Given the description of an element on the screen output the (x, y) to click on. 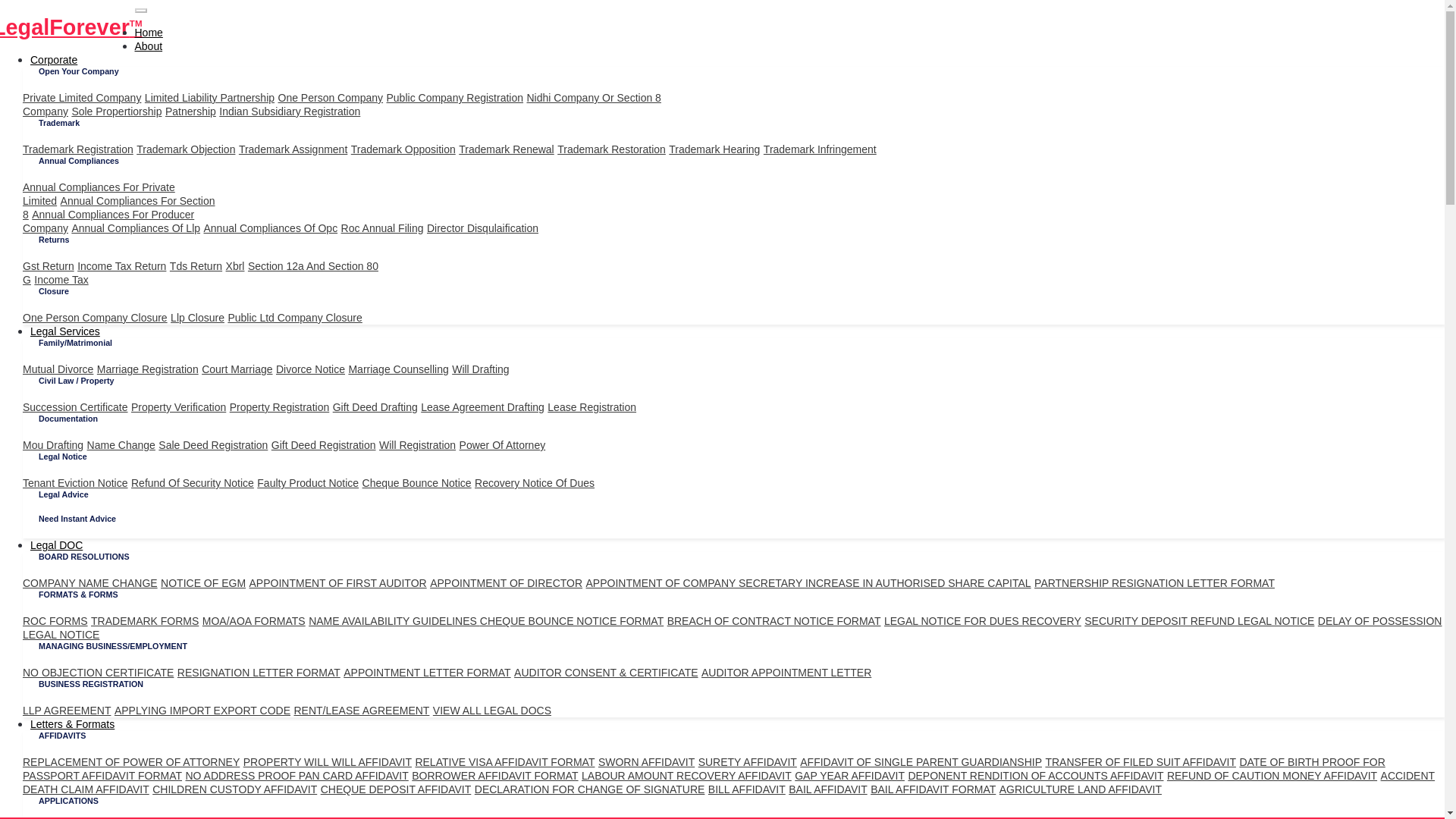
Tds Return (196, 265)
Private Limited Company (82, 97)
Indian Subsidiary Registration (108, 221)
Trademark Registration (289, 111)
Legal Services (78, 149)
One Person Company Closure (73, 330)
Trademark Opposition (95, 317)
LegalForeverTM (402, 149)
Sole Propertiorship (71, 27)
One Person Company (116, 111)
Trademark Objection (331, 97)
Llp Closure (185, 149)
Trademark Hearing (197, 317)
Income Tax Return (714, 149)
